Given the description of an element on the screen output the (x, y) to click on. 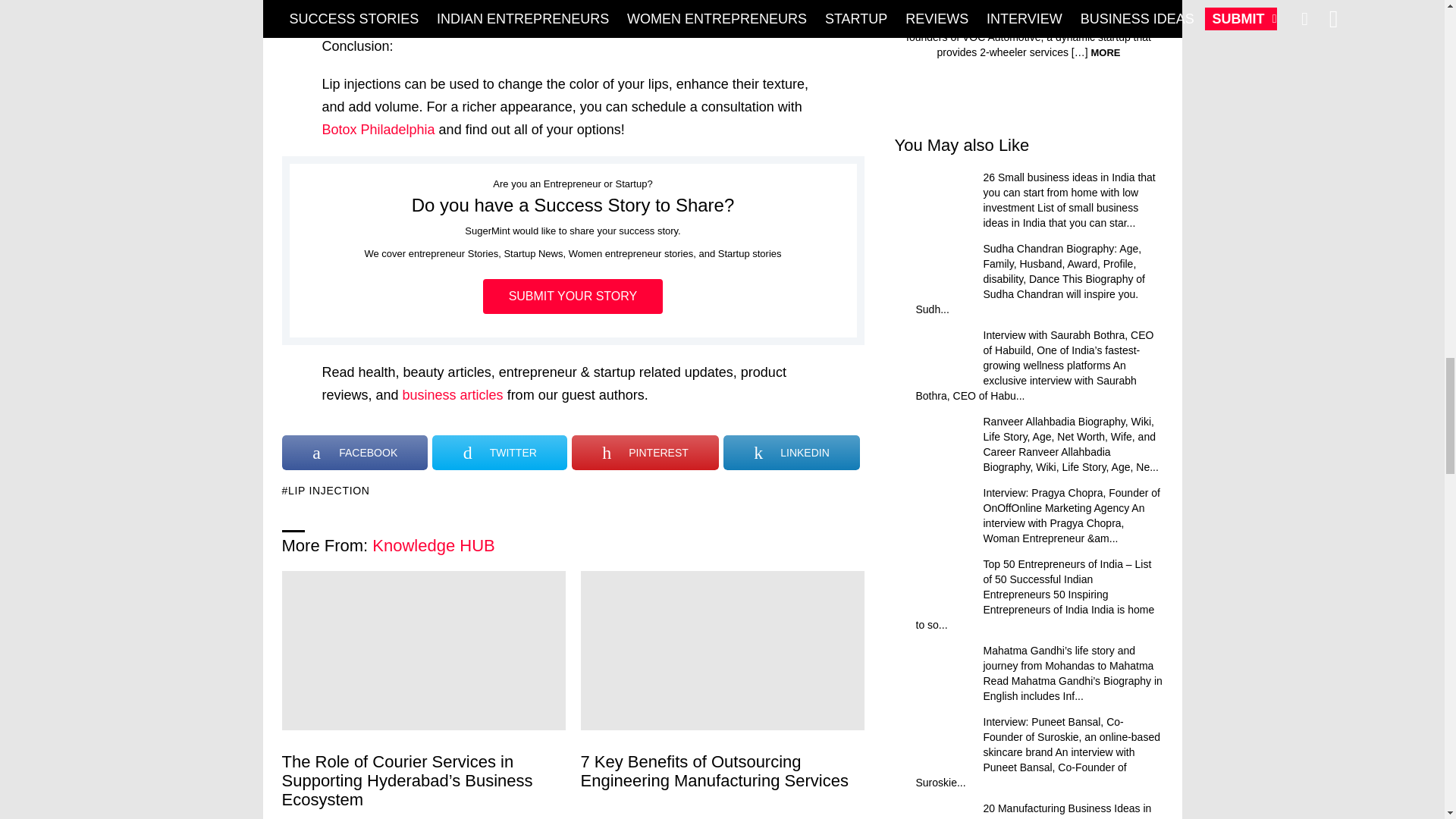
business articles (453, 394)
Botox Philadelphia (377, 129)
LINKEDIN (791, 452)
TWITTER (499, 452)
SUBMIT YOUR STORY (573, 296)
PINTEREST (645, 452)
FACEBOOK (355, 452)
